Given the description of an element on the screen output the (x, y) to click on. 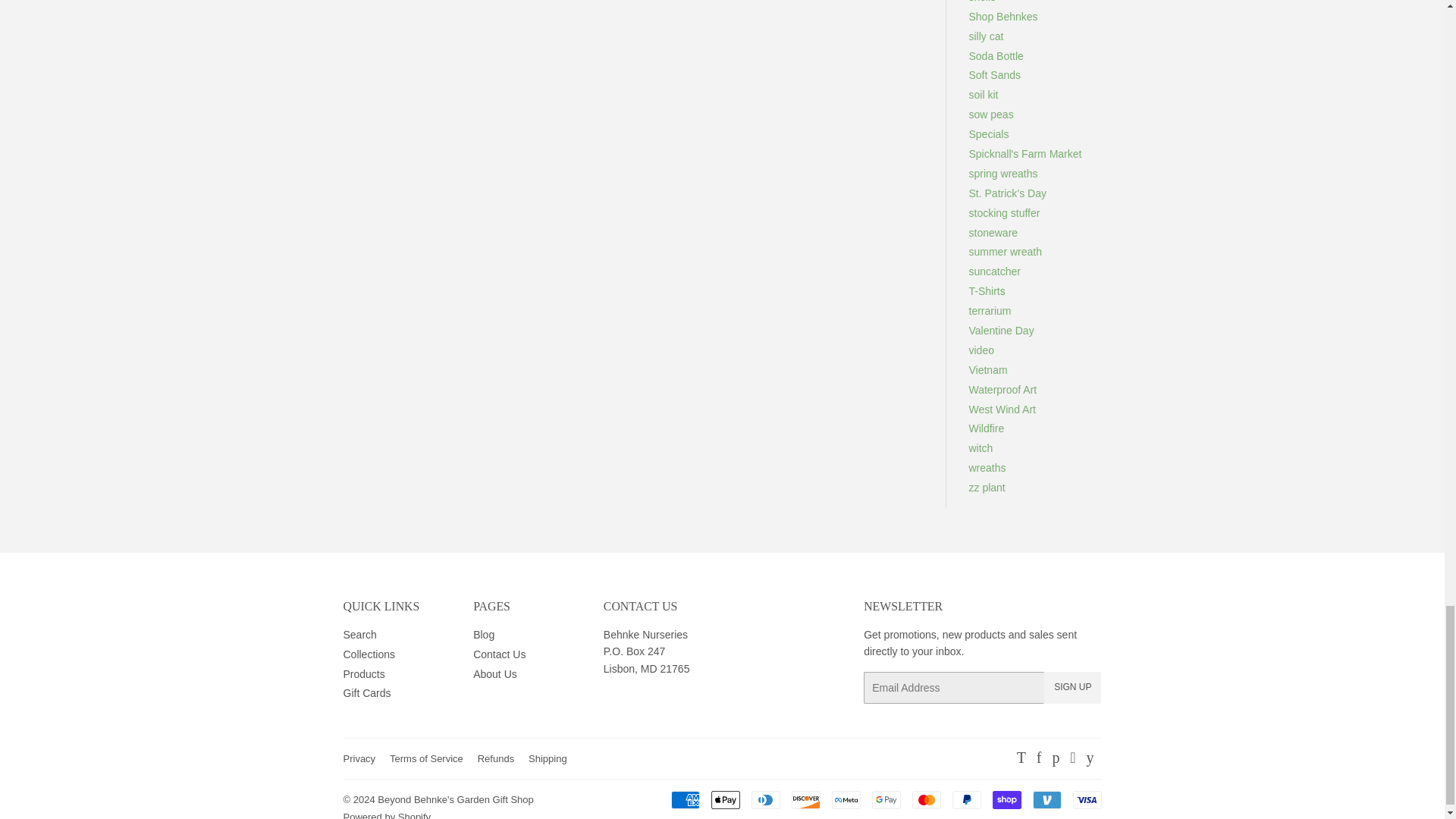
Venmo (1046, 800)
PayPal (966, 800)
Visa (1085, 800)
Shop Pay (1005, 800)
American Express (683, 800)
Discover (806, 800)
Meta Pay (845, 800)
Mastercard (925, 800)
Google Pay (886, 800)
Diners Club (764, 800)
Apple Pay (725, 800)
